Given the description of an element on the screen output the (x, y) to click on. 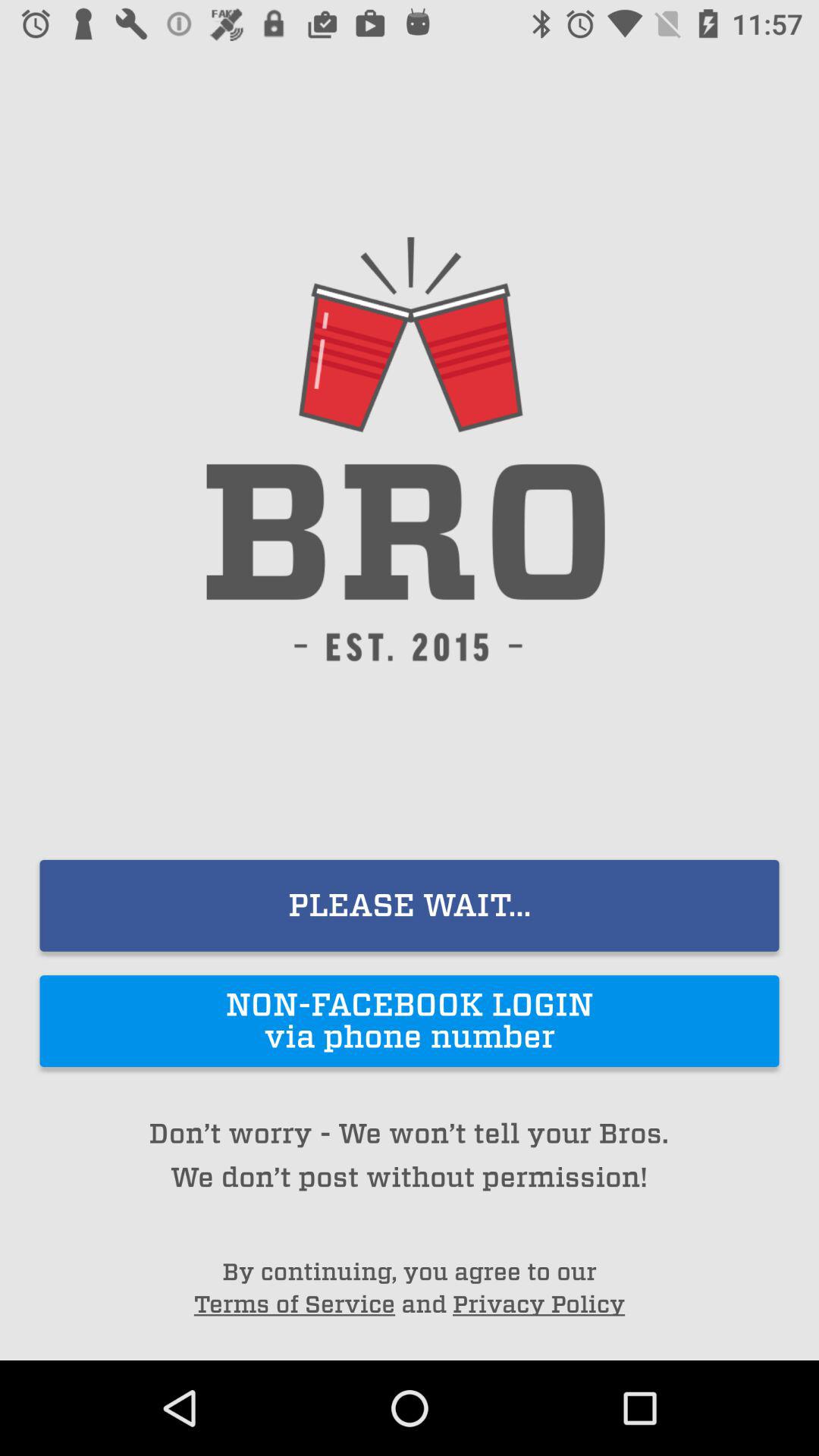
choose the item above the don t worry icon (409, 1020)
